Given the description of an element on the screen output the (x, y) to click on. 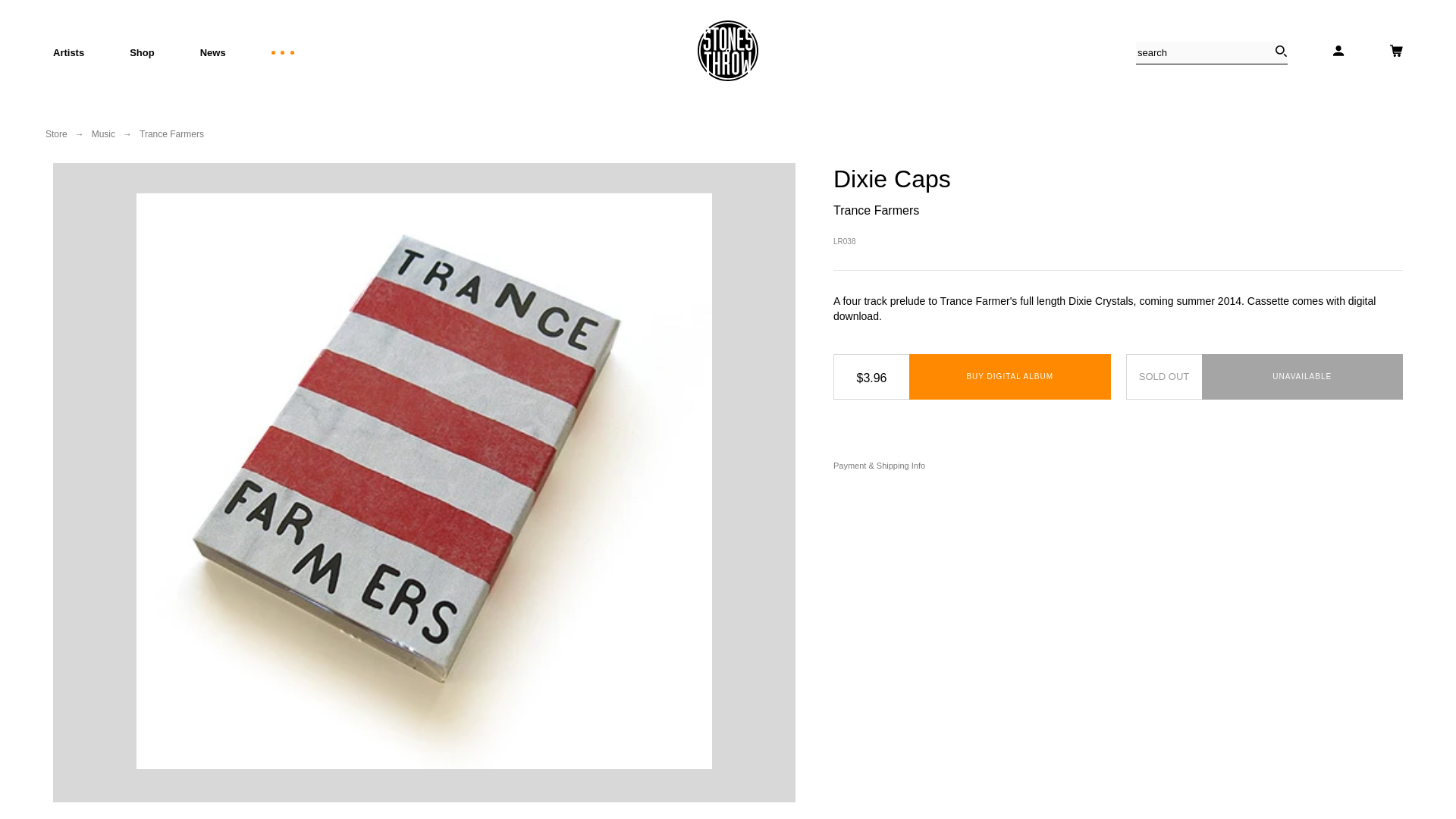
Artists (68, 51)
Shop (141, 51)
News (212, 51)
